Given the description of an element on the screen output the (x, y) to click on. 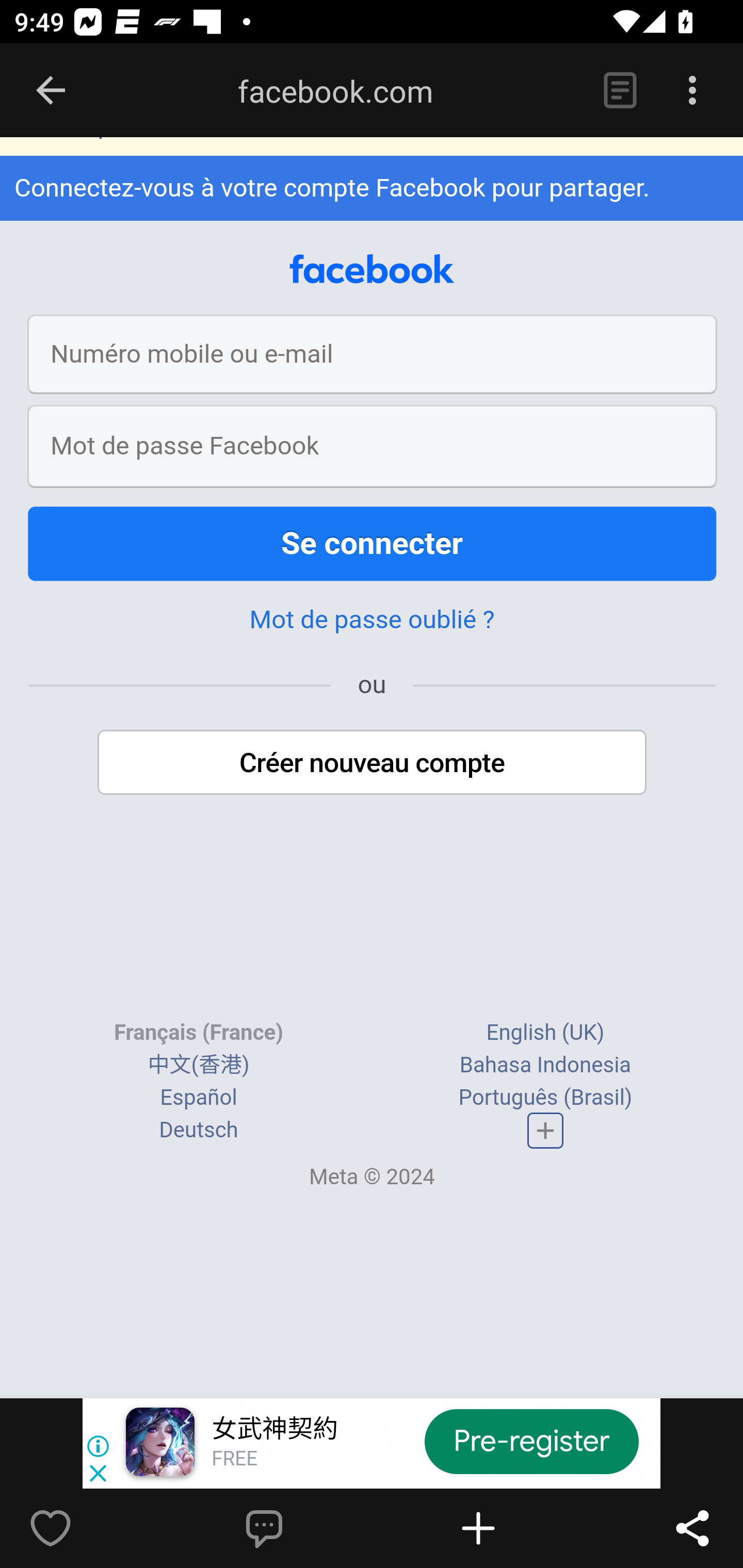
Back (50, 90)
Reader View (619, 90)
Options (692, 90)
facebook (372, 270)
Se connecter (372, 544)
Mot de passe oublié ? (371, 620)
Créer nouveau compte (372, 763)
English (UK) (544, 1033)
中文(香港) (198, 1065)
Bahasa Indonesia (545, 1065)
Español (198, 1098)
Português (Brasil) (544, 1098)
Liste complète des langues (545, 1130)
Deutsch (198, 1130)
Pre-register (530, 1441)
女武神契約 (274, 1429)
FREE (234, 1459)
Like (93, 1528)
Write a comment… (307, 1528)
Flip into Magazine (521, 1528)
Share (692, 1528)
